Given the description of an element on the screen output the (x, y) to click on. 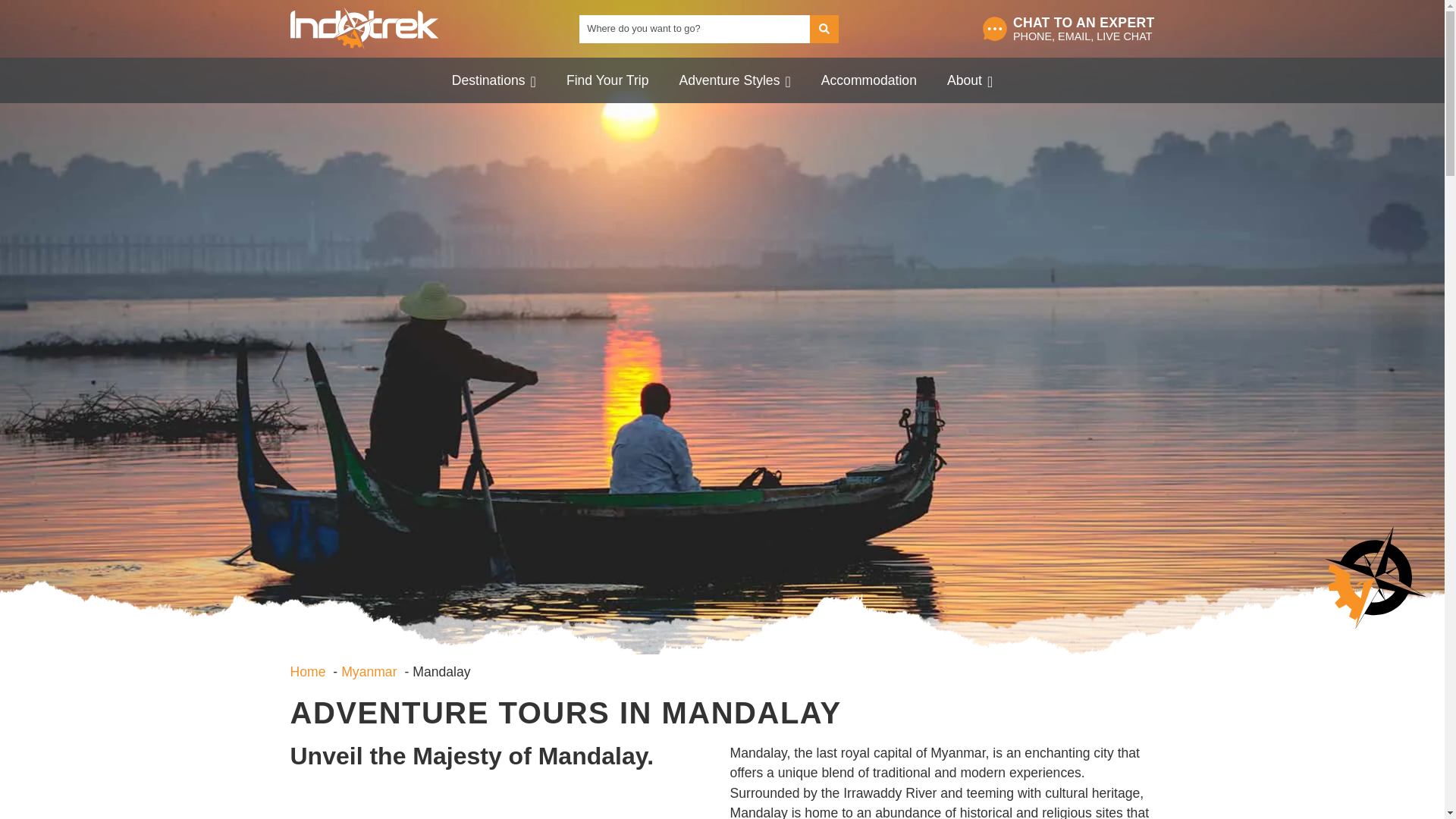
CHAT TO AN EXPERT (1083, 22)
Destinations (493, 80)
